Given the description of an element on the screen output the (x, y) to click on. 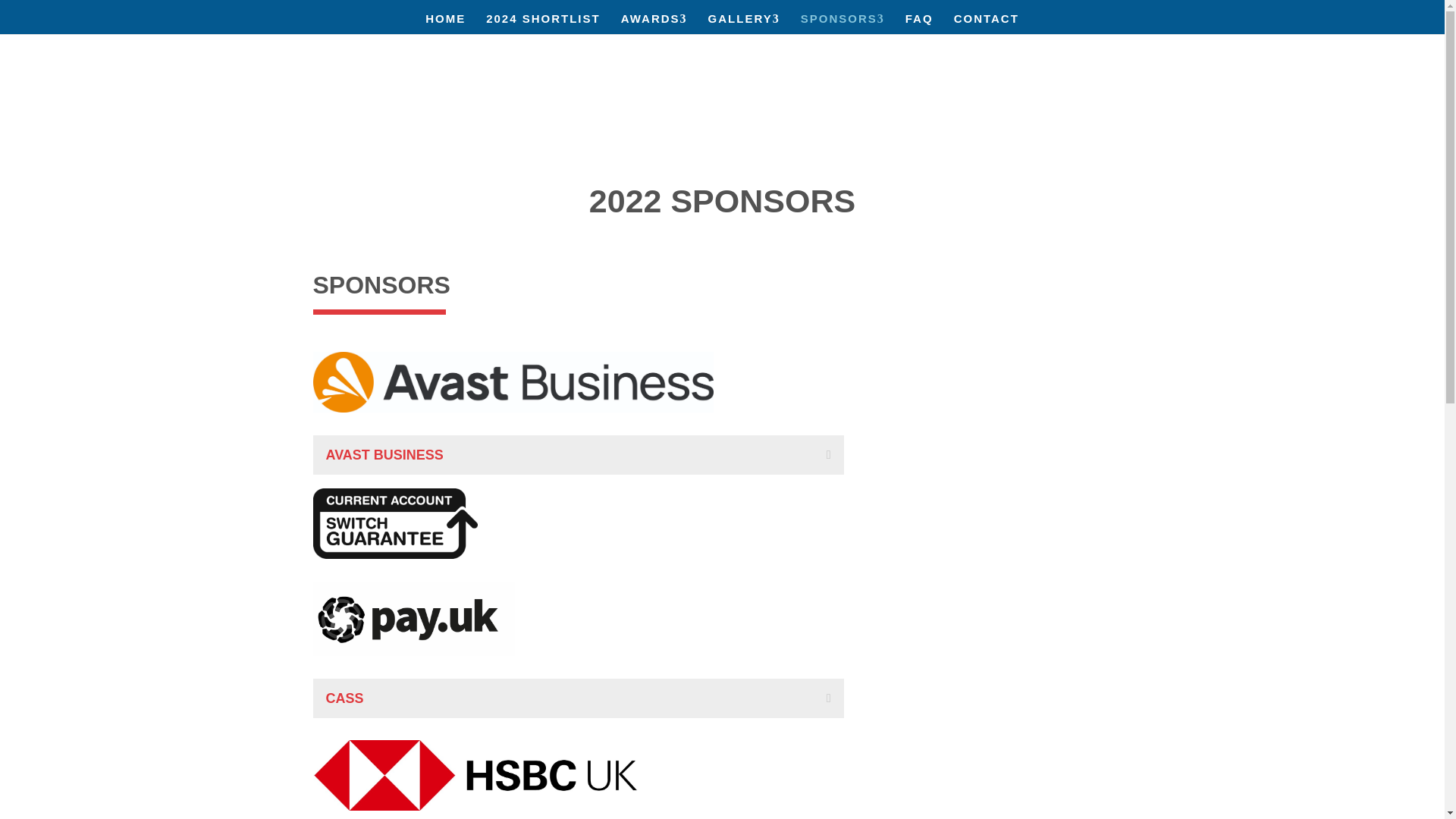
HSBC logo (475, 775)
HOME (445, 23)
SPONSORS (842, 23)
CASS (395, 523)
FAQ (919, 23)
2024 SHORTLIST (542, 23)
GALLERY (743, 23)
AWARDS (654, 23)
Pay.uk (413, 618)
CONTACT (986, 23)
